Given the description of an element on the screen output the (x, y) to click on. 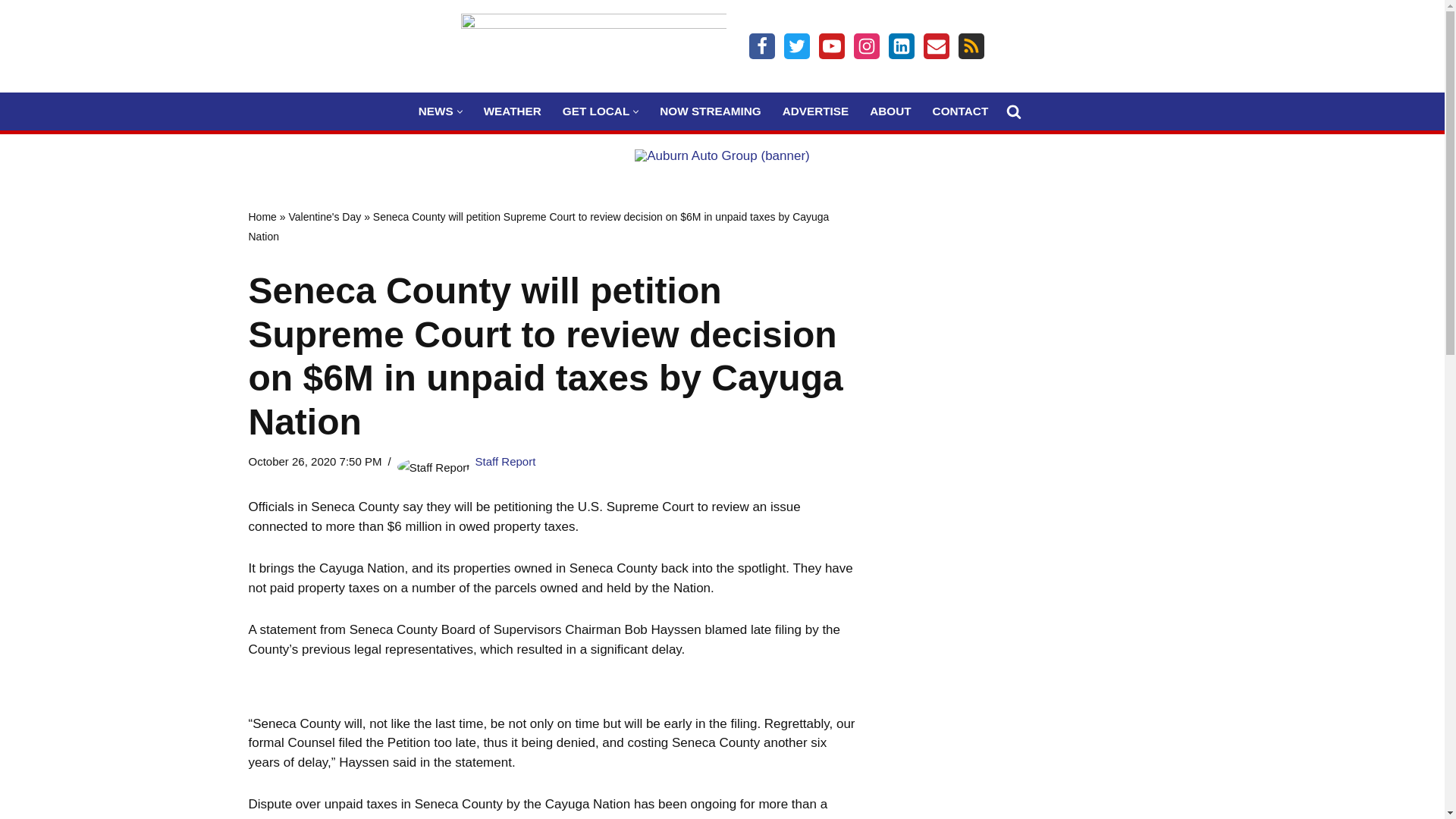
Posts by Staff Report (505, 461)
Youtube (831, 45)
NEWS (435, 111)
LinkIn (901, 45)
Skip to content (11, 31)
Twitter (796, 45)
ADVERTISE (815, 111)
ABOUT (890, 111)
Instagram (866, 45)
CONTACT (960, 111)
